Given the description of an element on the screen output the (x, y) to click on. 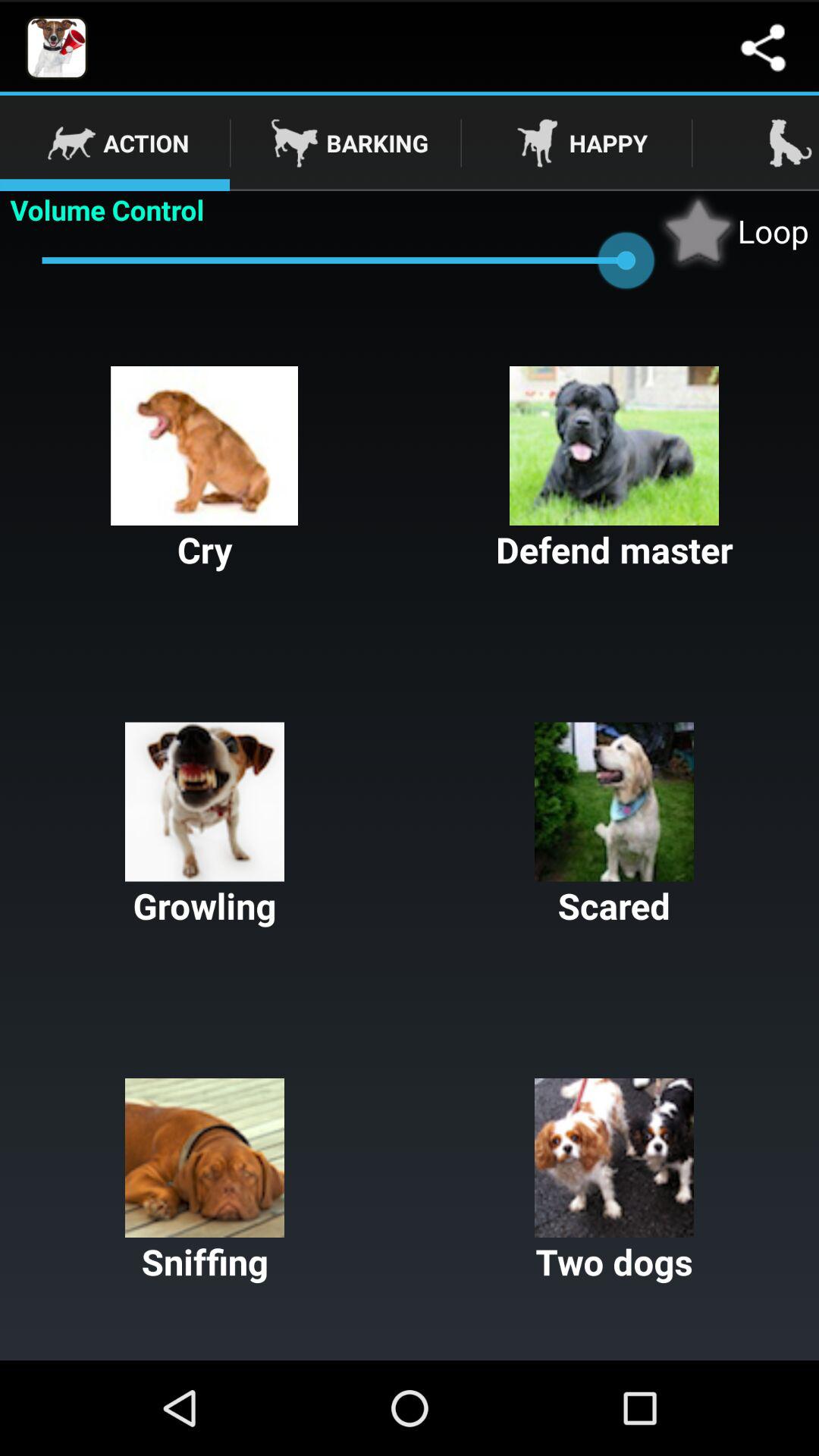
turn off the loop item (733, 230)
